Given the description of an element on the screen output the (x, y) to click on. 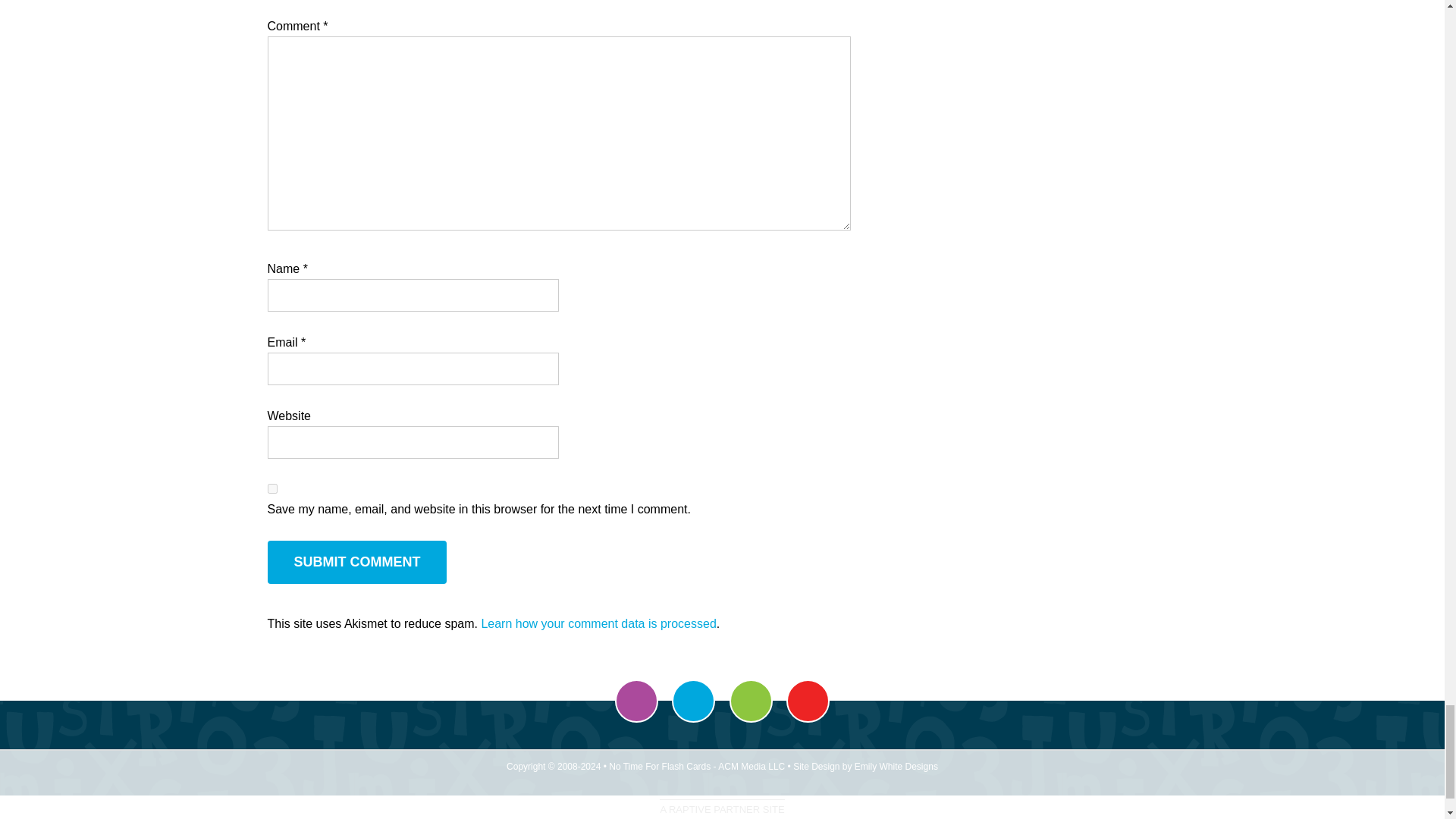
yes (271, 488)
Submit Comment (356, 561)
